Given the description of an element on the screen output the (x, y) to click on. 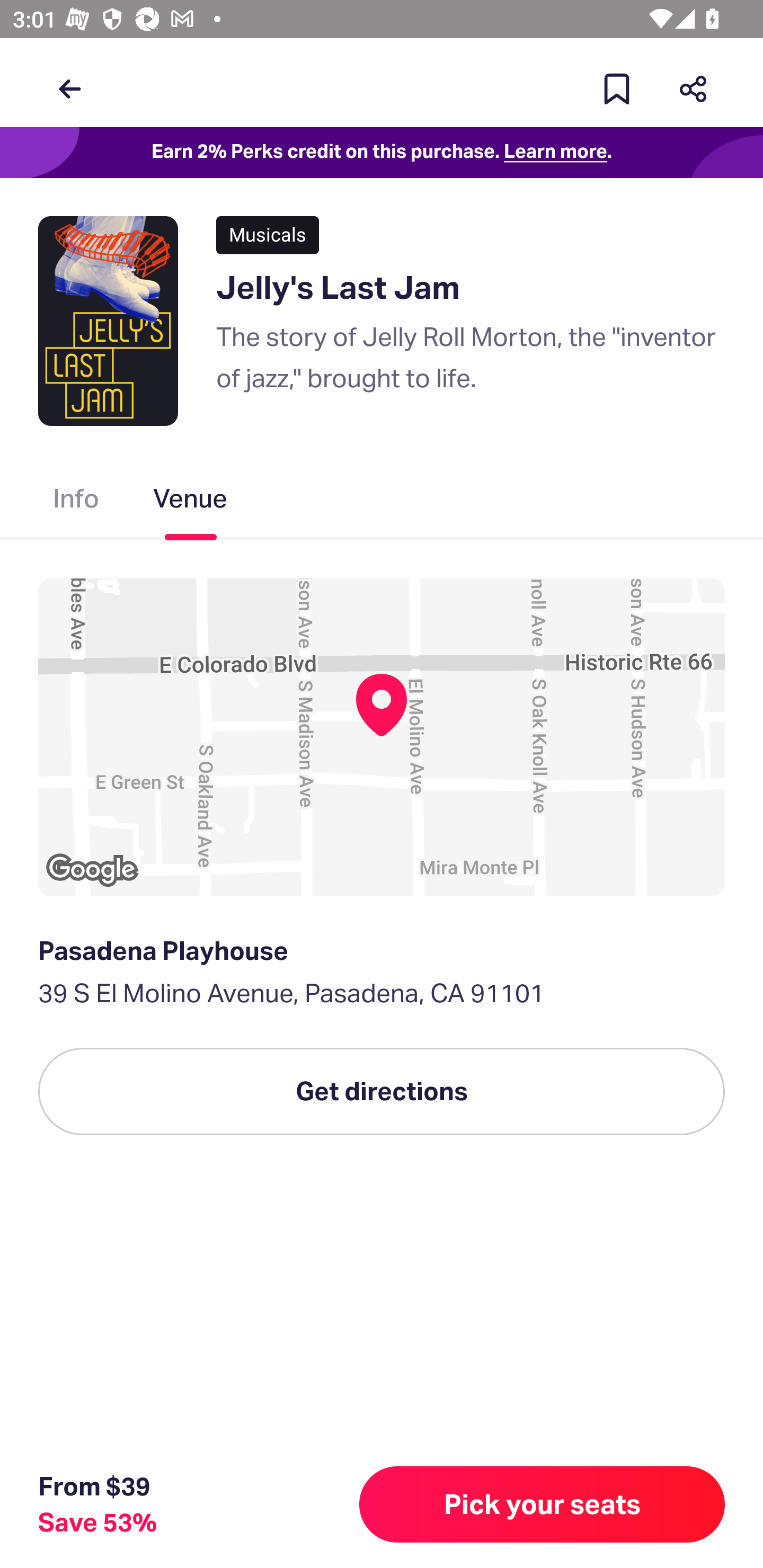
Earn 2% Perks credit on this purchase. Learn more. (381, 152)
Info (76, 502)
Google Map Pasadena Playhouse.  (381, 737)
Get directions (381, 1091)
Pick your seats (541, 1504)
